Given the description of an element on the screen output the (x, y) to click on. 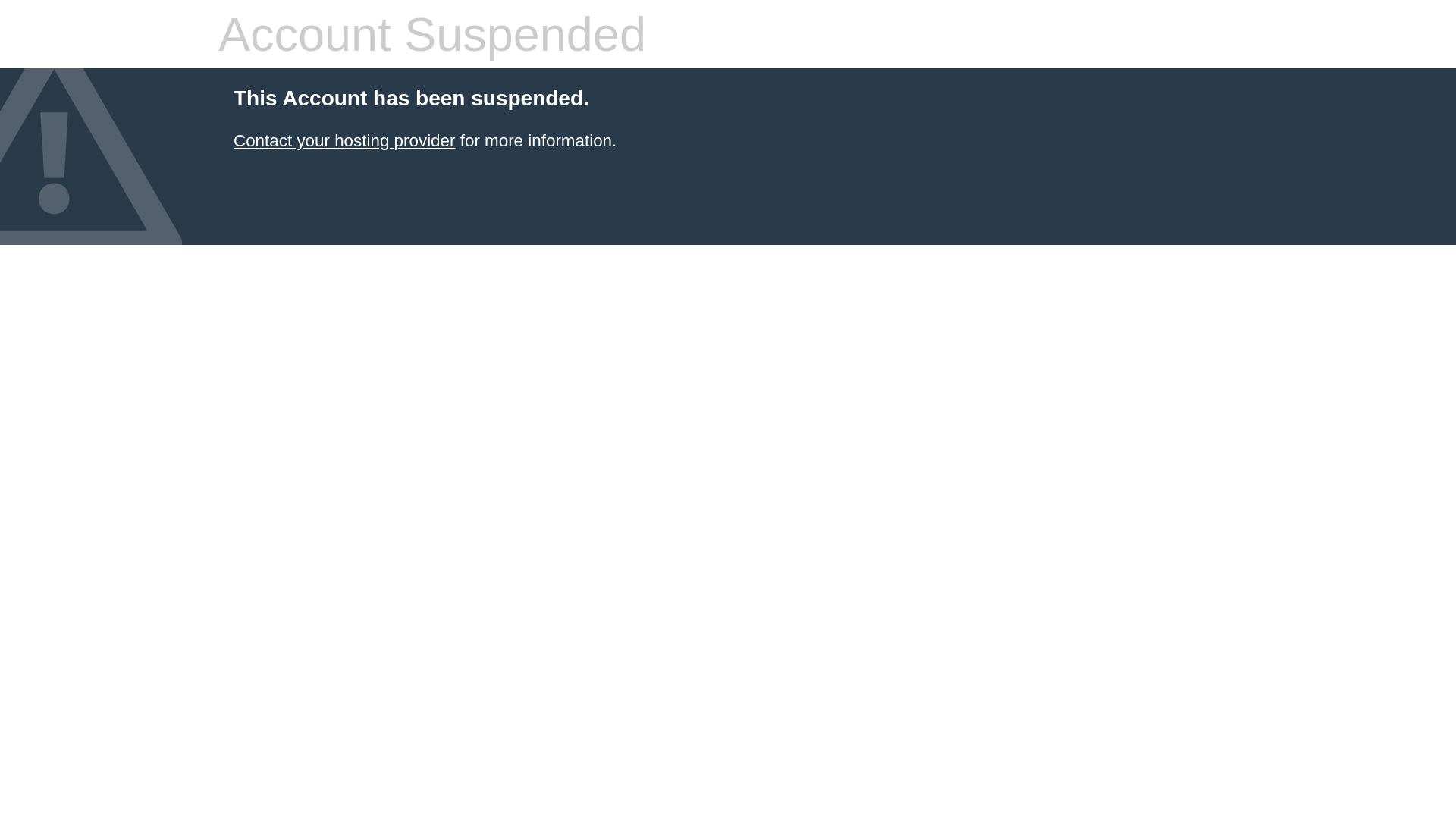
Contact your hosting provider Element type: text (344, 140)
